Given the description of an element on the screen output the (x, y) to click on. 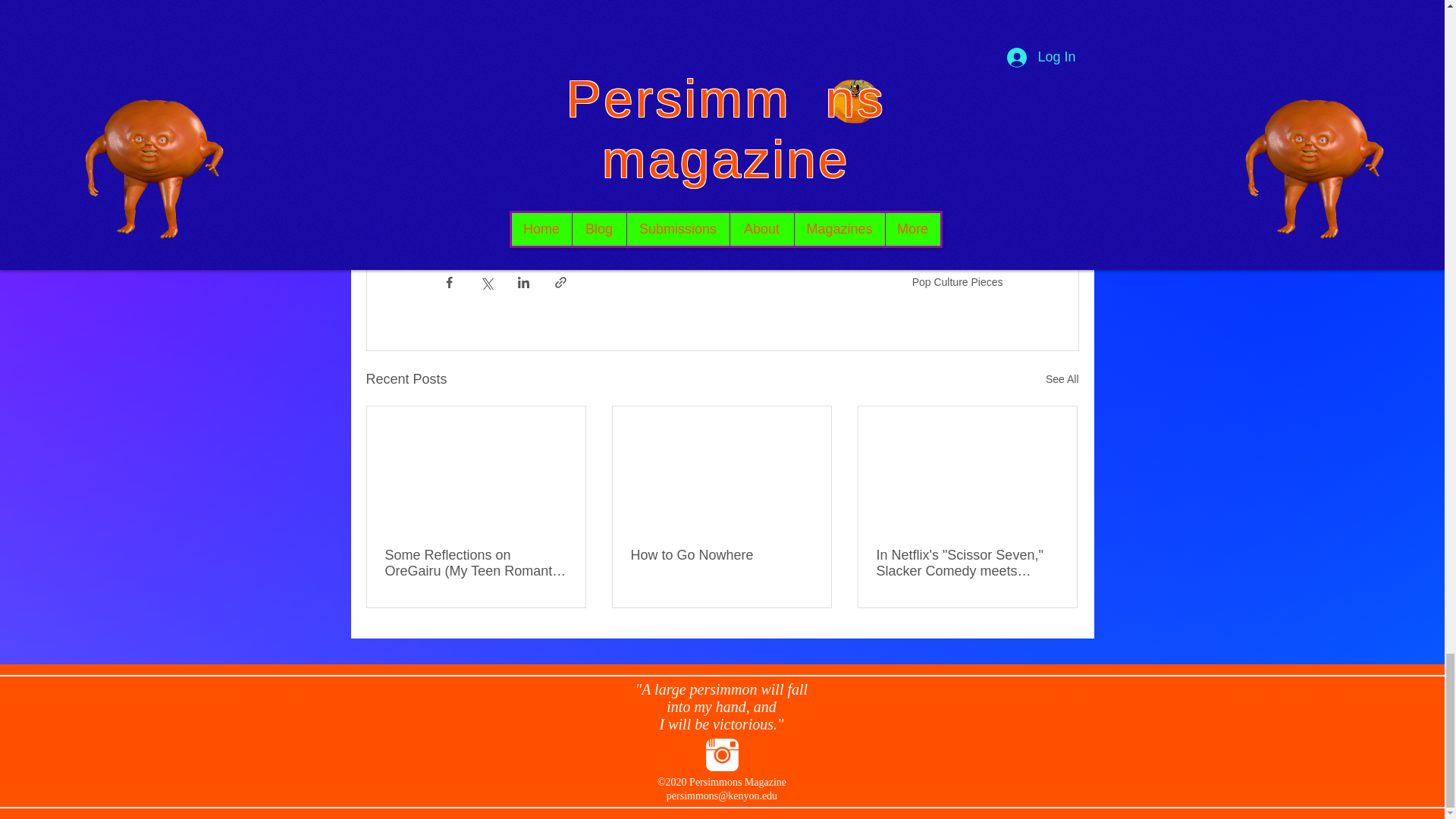
How to Go Nowhere (721, 555)
Pop Culture Pieces (957, 281)
white-instagram-icon-free-white-social-i (721, 754)
See All (1061, 379)
